Given the description of an element on the screen output the (x, y) to click on. 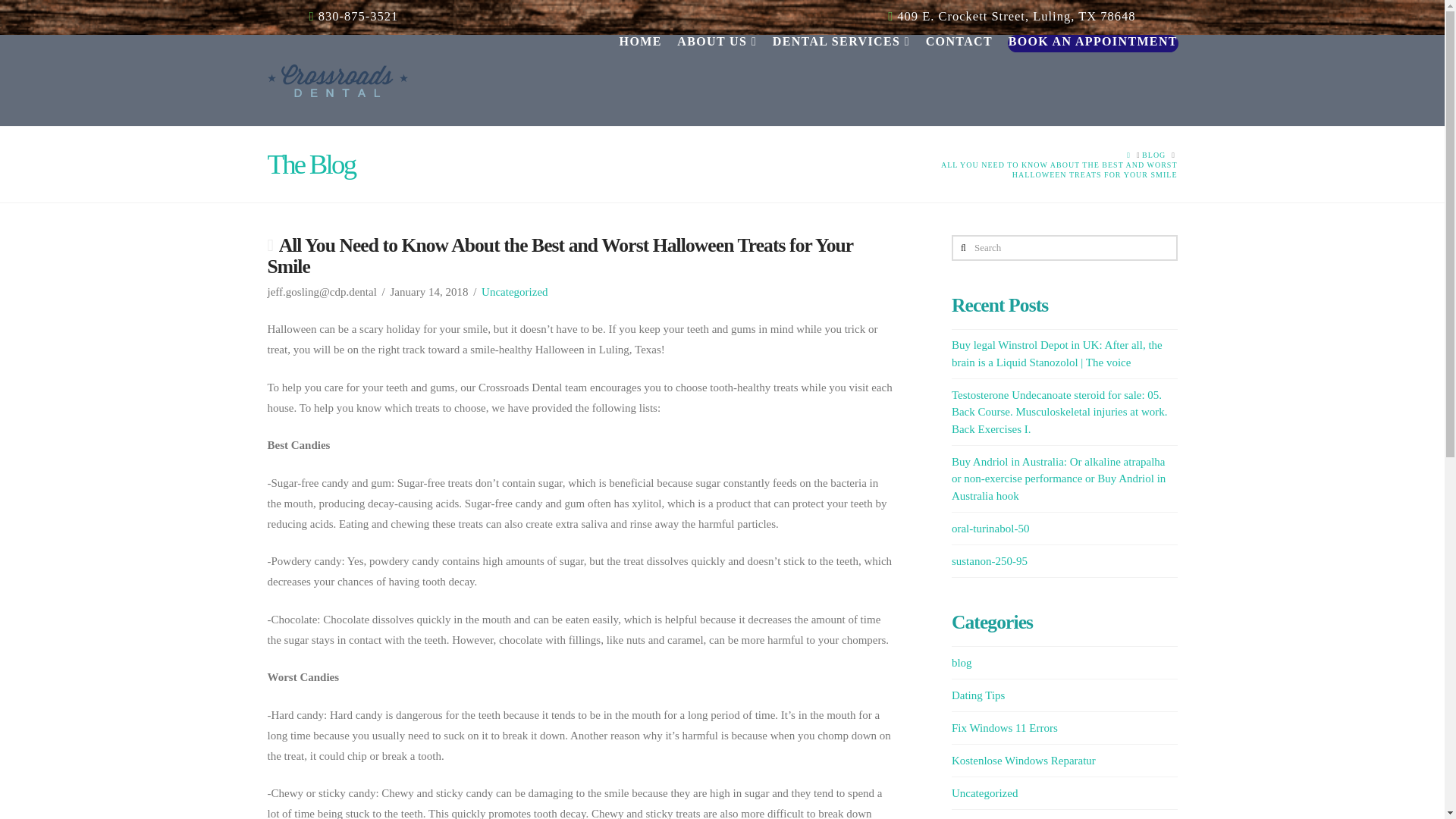
DENTAL SERVICES (840, 80)
ABOUT US (715, 80)
CONTACT (958, 80)
 409 E. Crockett Street, Luling, TX 78648 (1010, 16)
830-875-3521 (352, 16)
You Are Here (1040, 169)
BOOK AN APPOINTMENT (1088, 80)
